Given the description of an element on the screen output the (x, y) to click on. 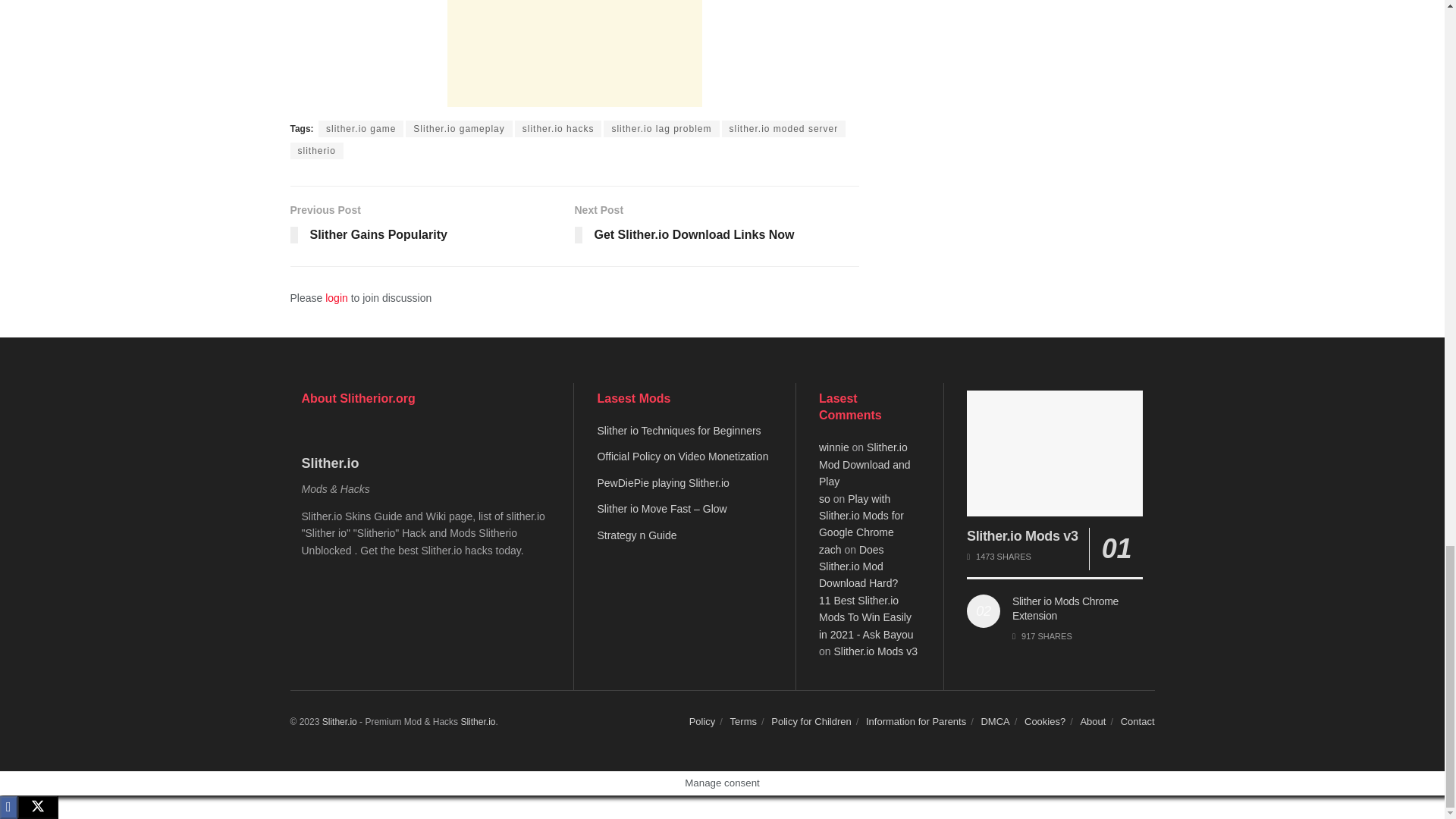
Privacy Policy (702, 721)
Slither.io (477, 721)
DMCA (994, 721)
Terms of Use (743, 721)
How Google uses cookies? (1045, 721)
Privacy Policy for Children and Parents (811, 721)
Slitheri.io Mods (338, 721)
About Us (1092, 721)
Contact Us (1137, 721)
Information for Parents (916, 721)
